Given the description of an element on the screen output the (x, y) to click on. 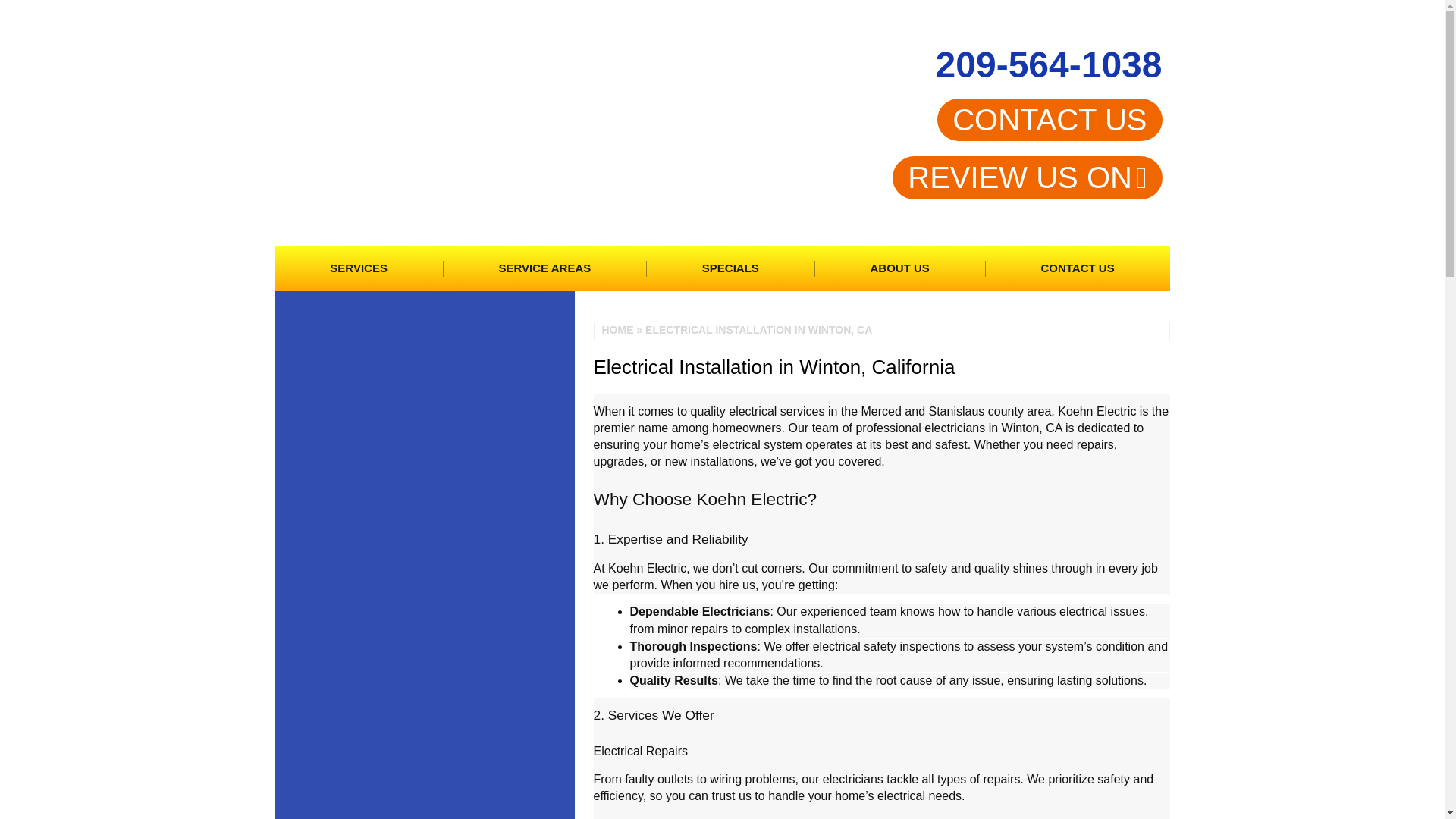
SERVICES (358, 268)
CONTACT US (1049, 119)
REVIEW US ON (1026, 177)
209-564-1038 (1048, 64)
SERVICE AREAS (545, 268)
